Given the description of an element on the screen output the (x, y) to click on. 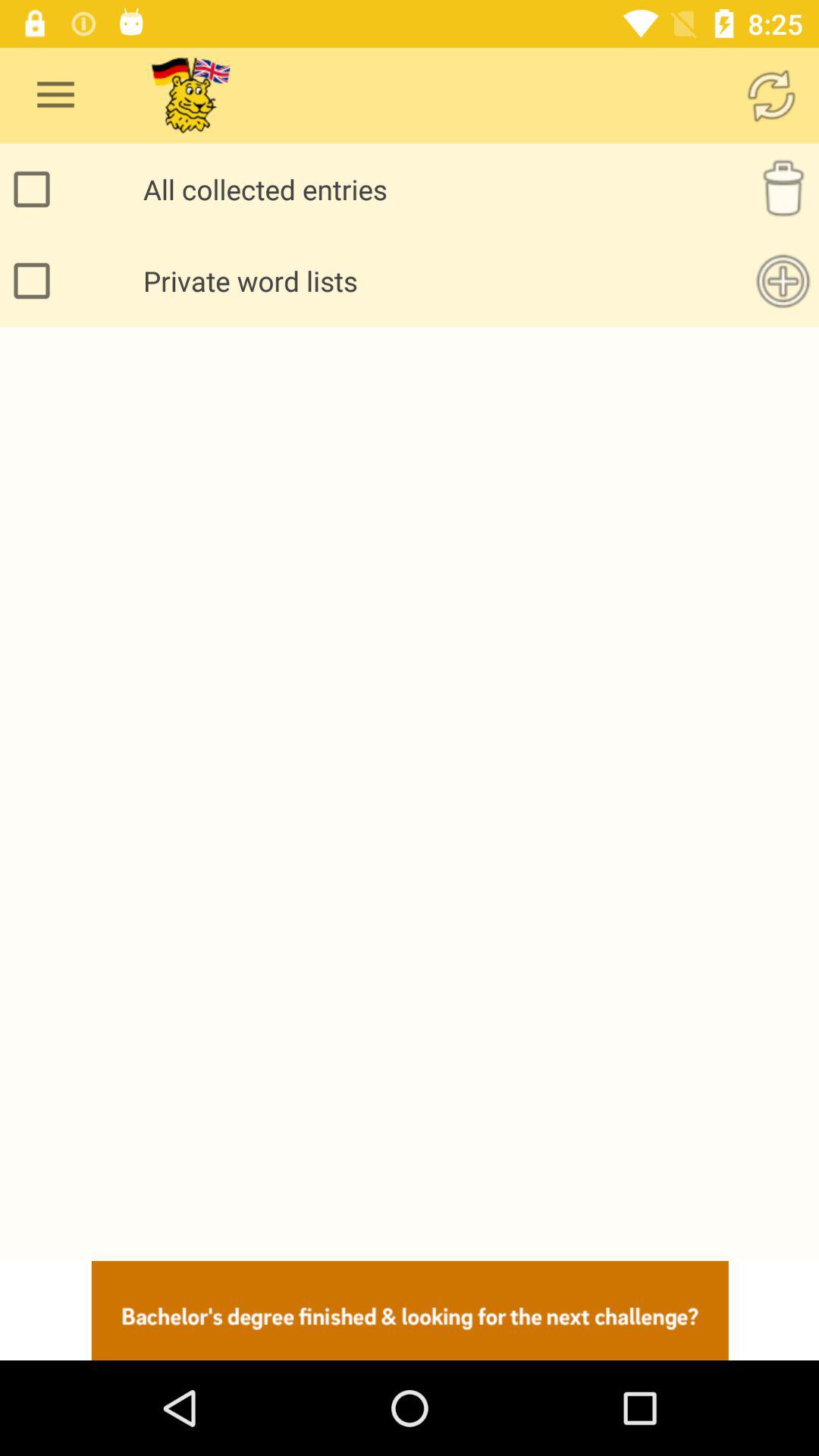
add option (783, 280)
